Given the description of an element on the screen output the (x, y) to click on. 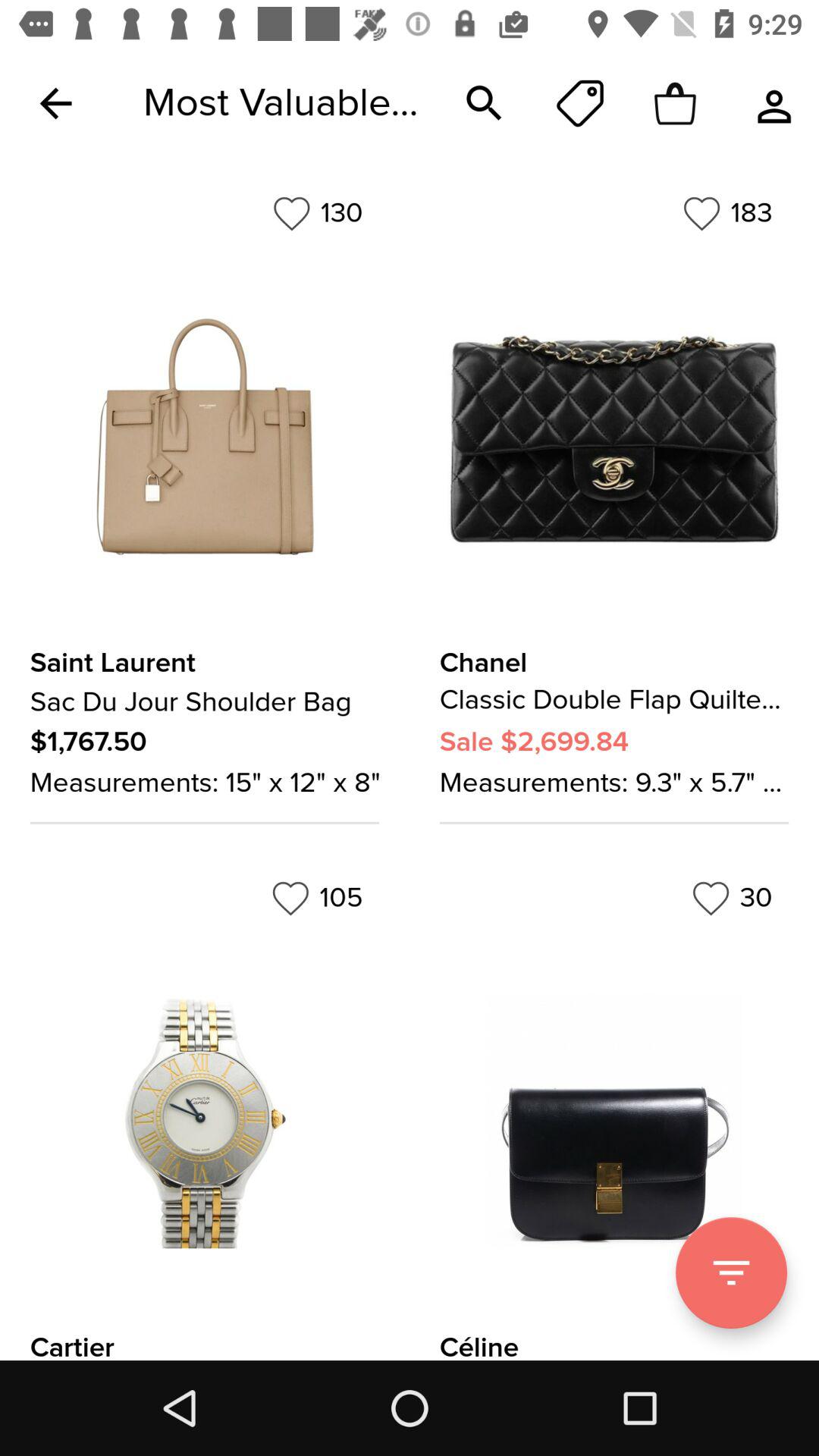
open item next to 130 icon (727, 213)
